Given the description of an element on the screen output the (x, y) to click on. 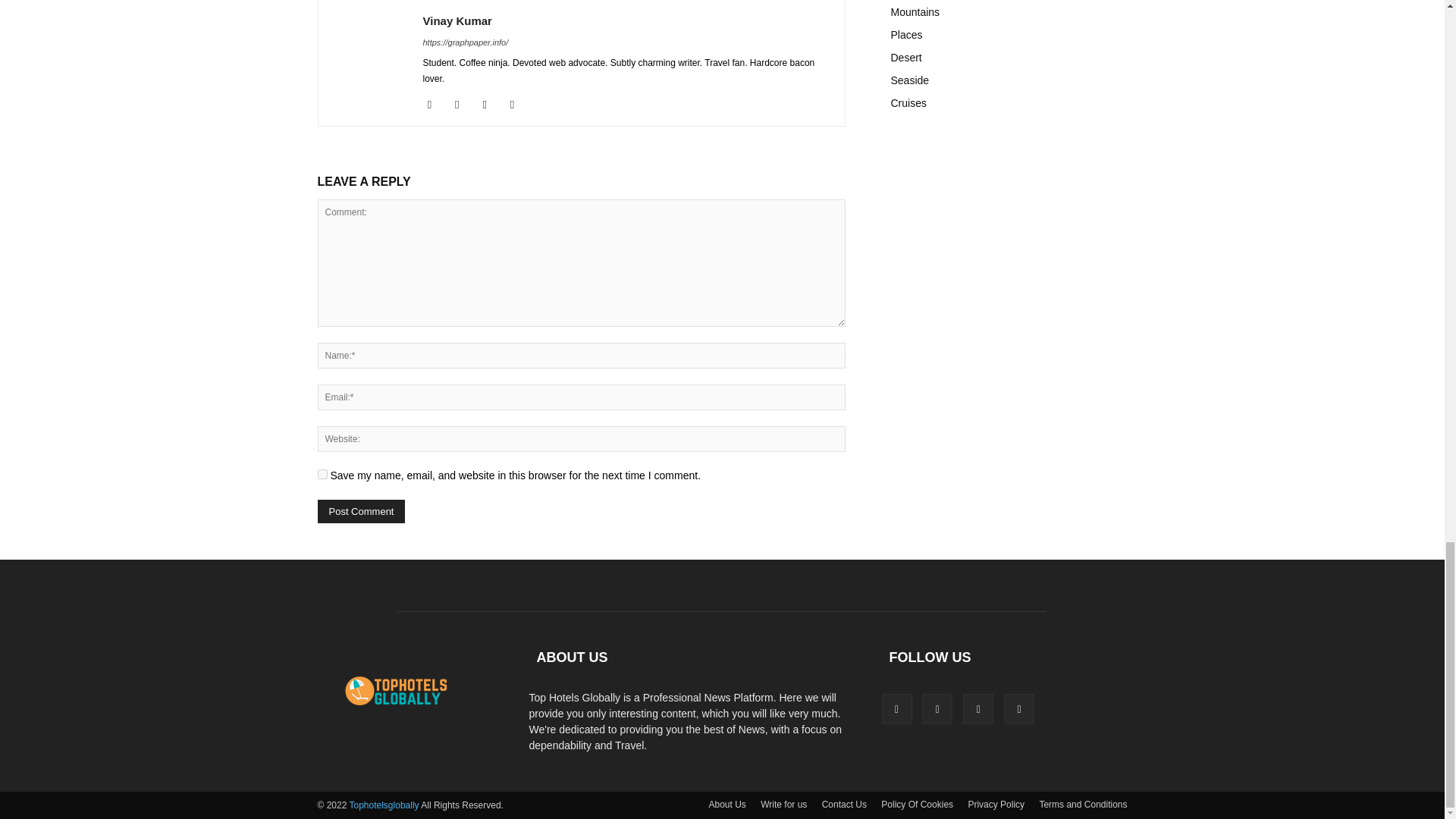
Twitter (518, 104)
Mail (489, 104)
yes (321, 474)
Linkedin (462, 104)
Post Comment (360, 511)
Facebook (435, 104)
